Given the description of an element on the screen output the (x, y) to click on. 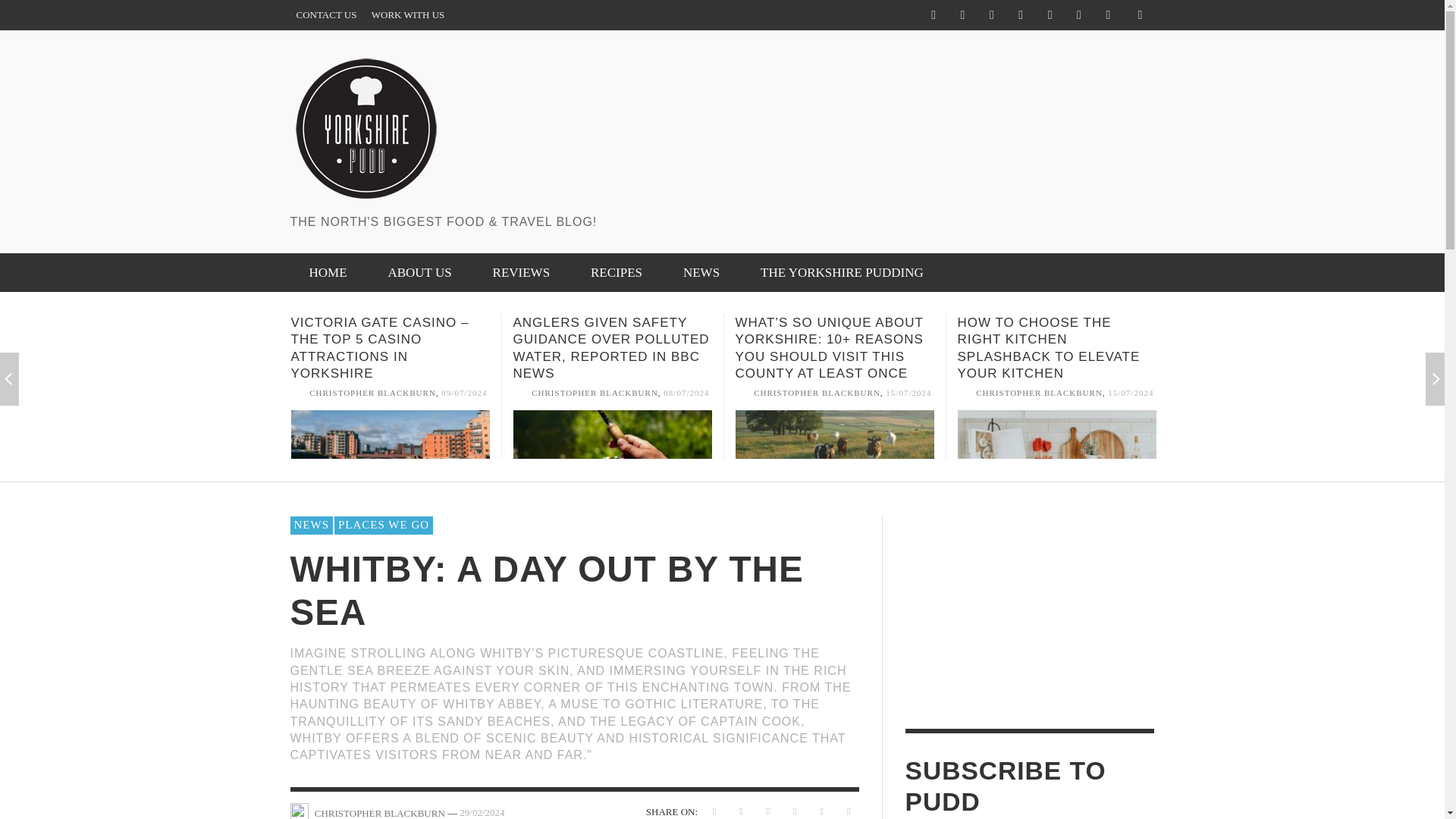
RSS (1049, 15)
Advertisement (878, 87)
Facebook (932, 15)
Instagram (991, 15)
WORK WITH US (408, 15)
Pinterest (1020, 15)
Youtube (1107, 15)
HOME (327, 272)
Twitter (1078, 15)
CONTACT US (325, 15)
